Given the description of an element on the screen output the (x, y) to click on. 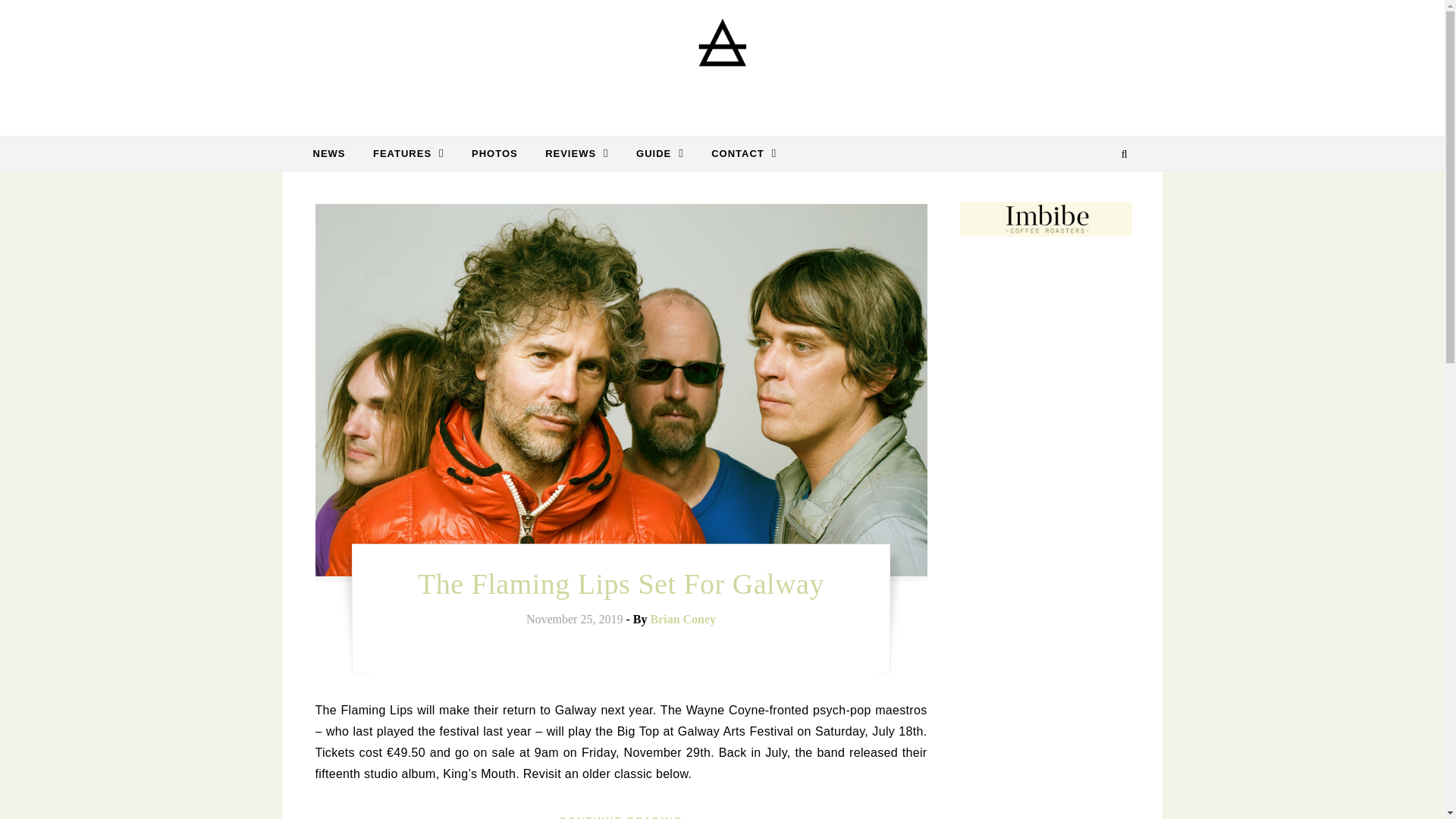
FEATURES (409, 153)
PHOTOS (494, 153)
Posts by Brian Coney (682, 618)
The Thin Air (722, 62)
REVIEWS (576, 153)
NEWS (334, 153)
GUIDE (659, 153)
CONTACT (737, 153)
